Given the description of an element on the screen output the (x, y) to click on. 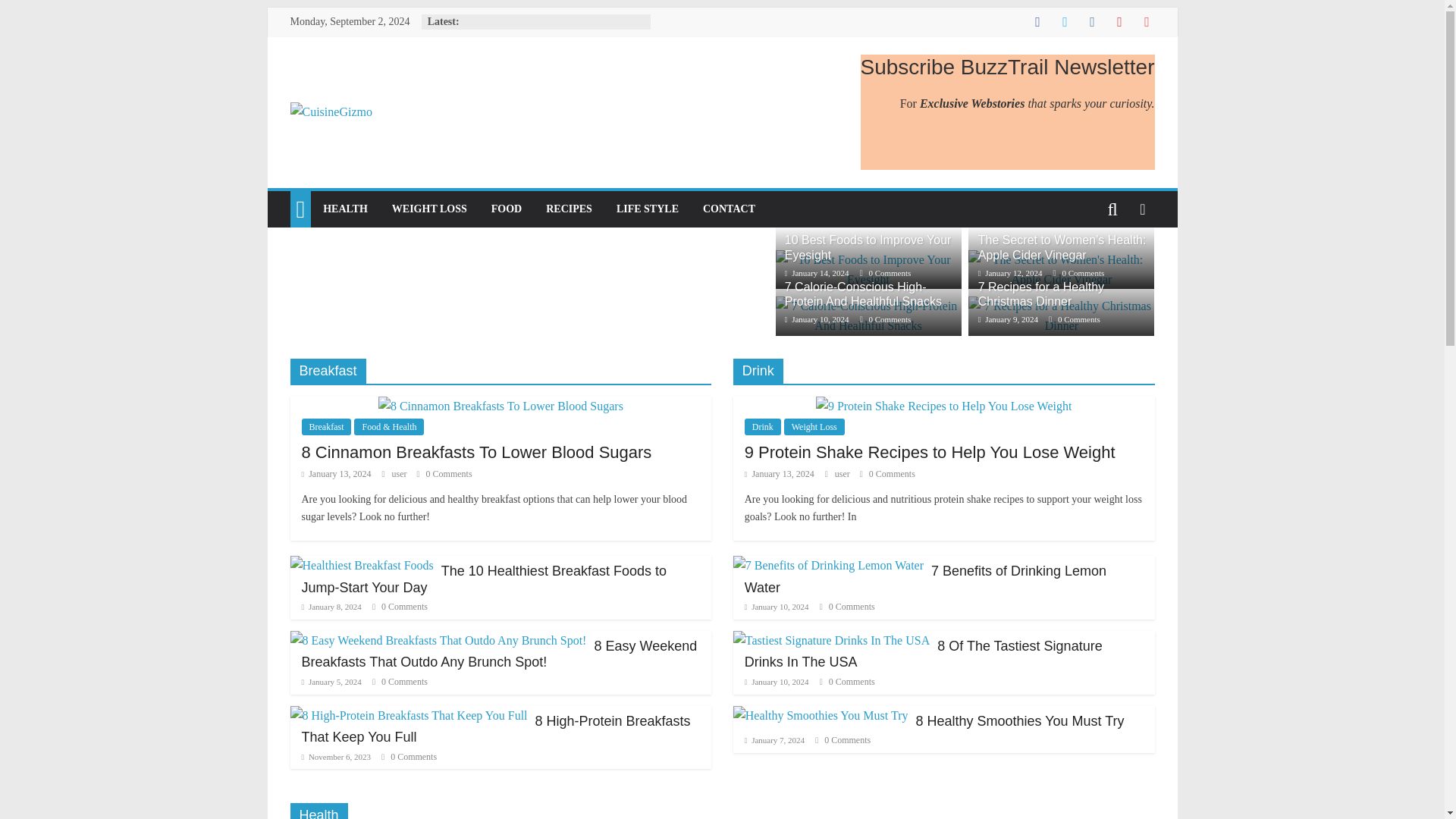
CONTACT (728, 208)
WEIGHT LOSS (429, 208)
LIFE STYLE (647, 208)
HEALTH (345, 208)
FOOD (506, 208)
RECIPES (569, 208)
